Given the description of an element on the screen output the (x, y) to click on. 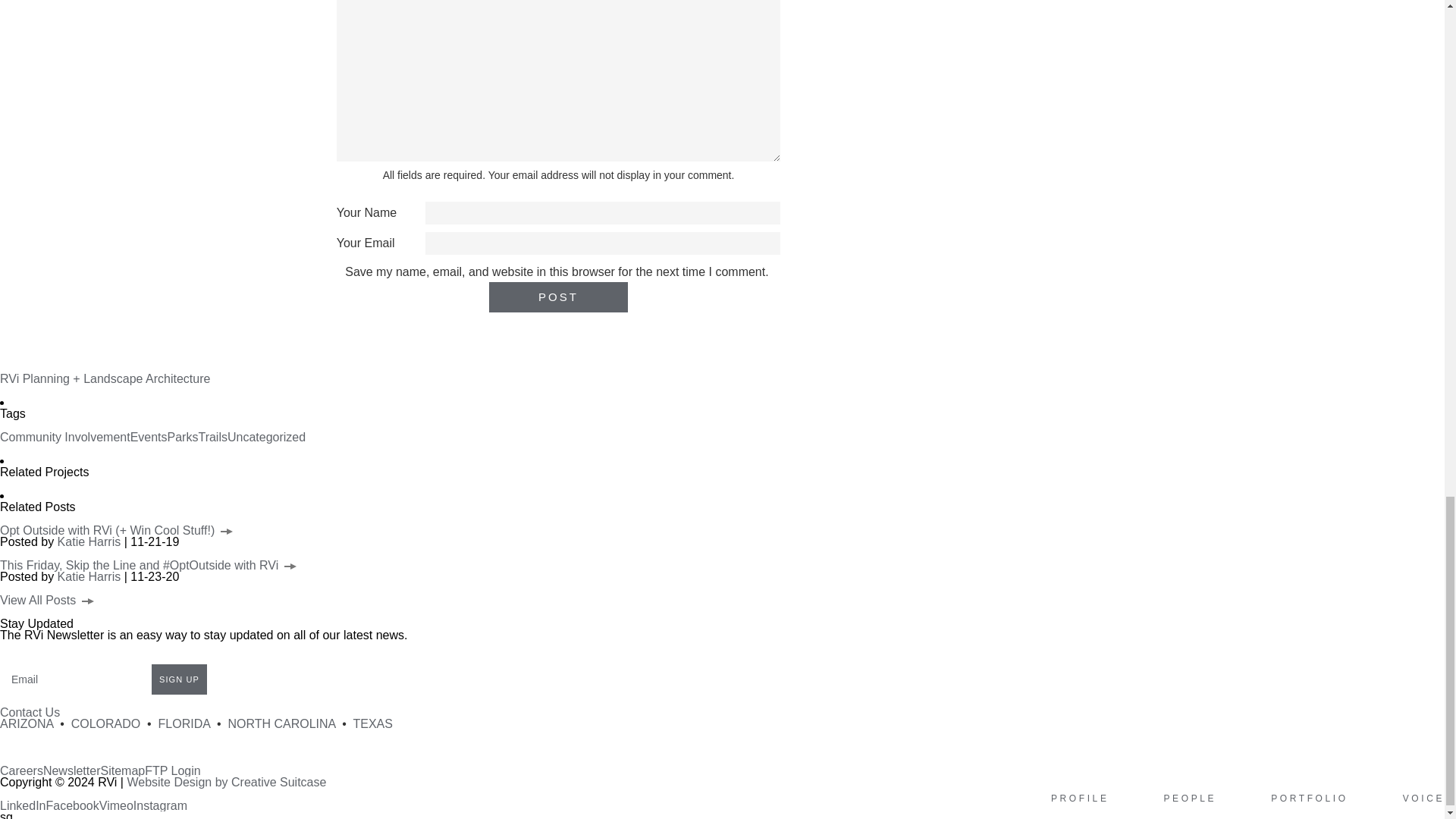
Katie Harris (89, 541)
COLORADO (106, 723)
Post (558, 296)
Trails (212, 436)
Uncategorized (266, 436)
Parks (182, 436)
ARIZONA (26, 723)
SIGN UP (178, 679)
View All Posts (47, 599)
Events (149, 436)
